Given the description of an element on the screen output the (x, y) to click on. 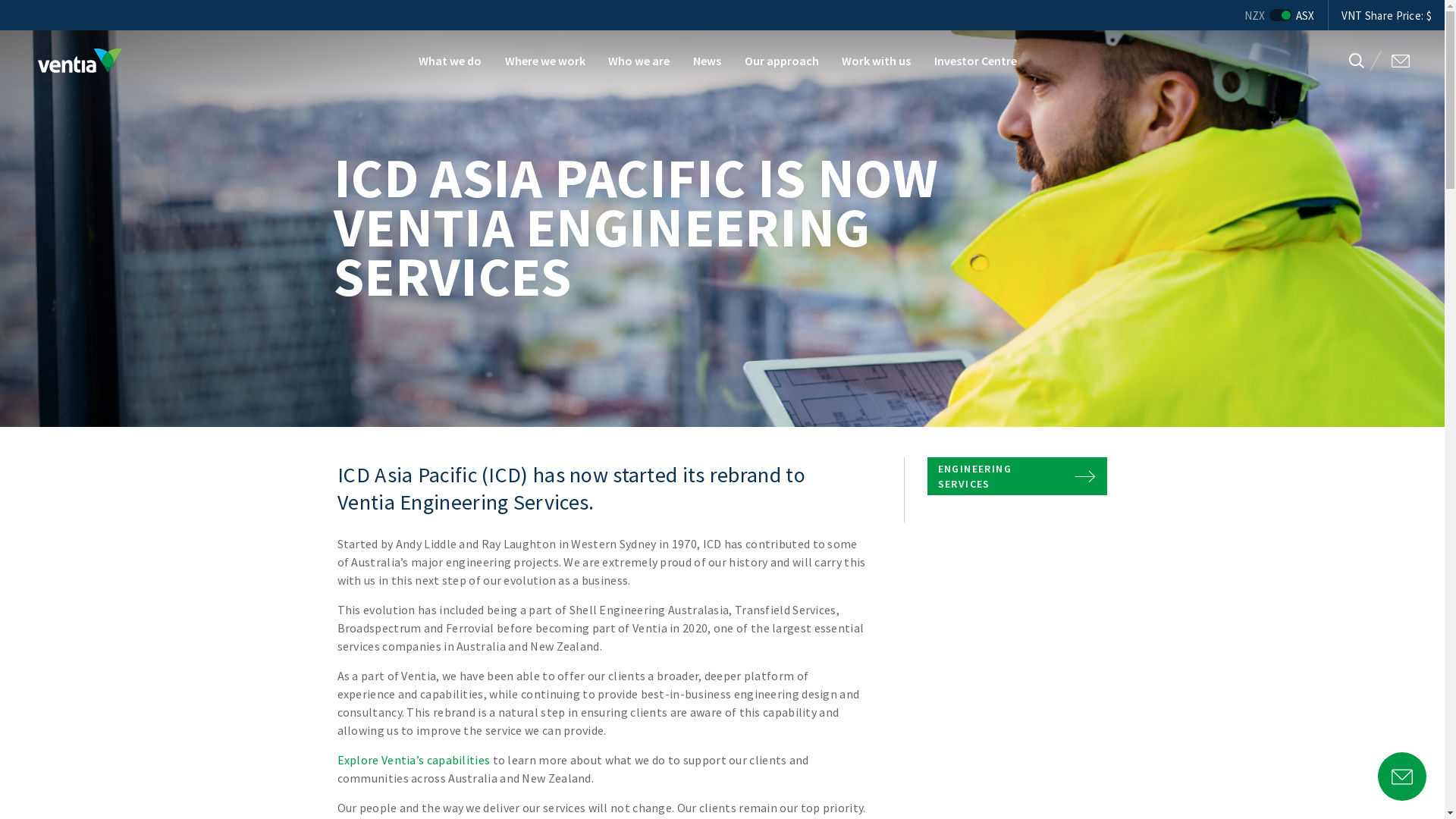
Ventia Element type: text (79, 60)
ENGINEERING SERVICES Element type: text (1017, 476)
Investor Centre Element type: text (975, 60)
